Given the description of an element on the screen output the (x, y) to click on. 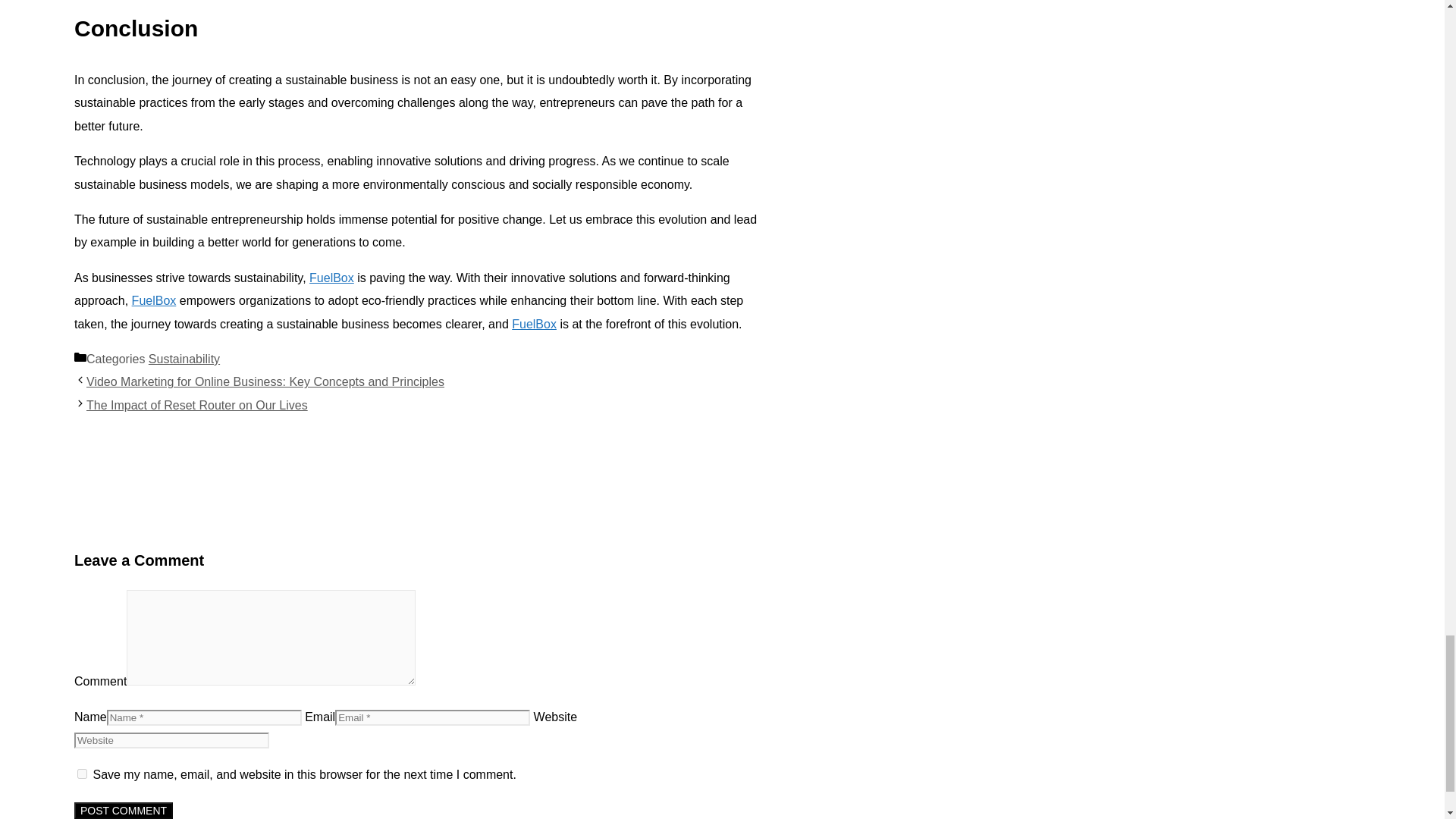
FuelBox (534, 323)
Post Comment (123, 810)
yes (82, 773)
FuelBox (154, 300)
Post Comment (123, 810)
Sustainability (183, 358)
The Impact of Reset Router on Our Lives (196, 404)
FuelBox (330, 277)
